Given the description of an element on the screen output the (x, y) to click on. 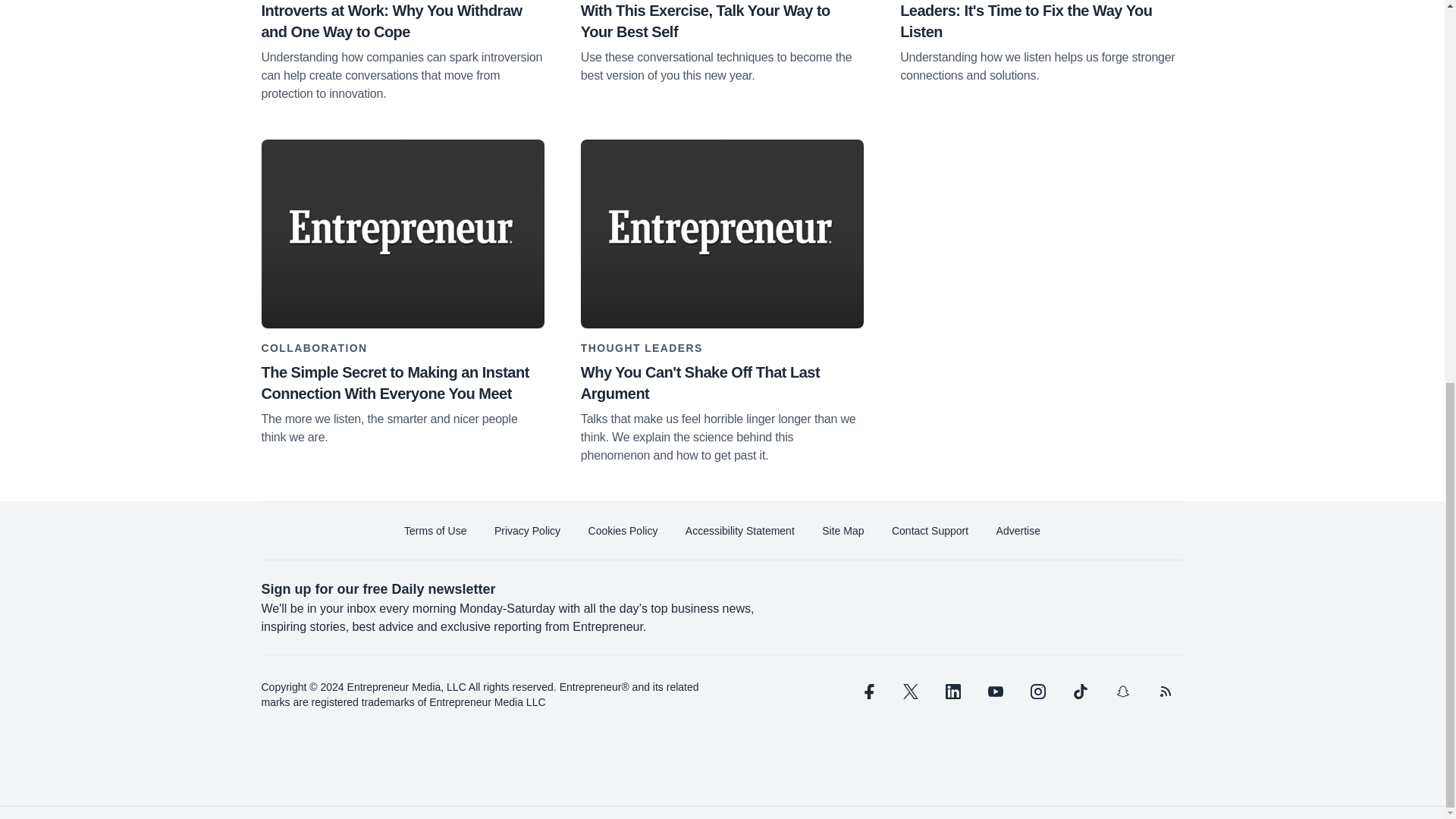
instagram (1037, 691)
snapchat (1121, 691)
facebook (866, 691)
twitter (909, 691)
youtube (994, 691)
tiktok (1079, 691)
linkedin (952, 691)
rss (1164, 691)
